Given the description of an element on the screen output the (x, y) to click on. 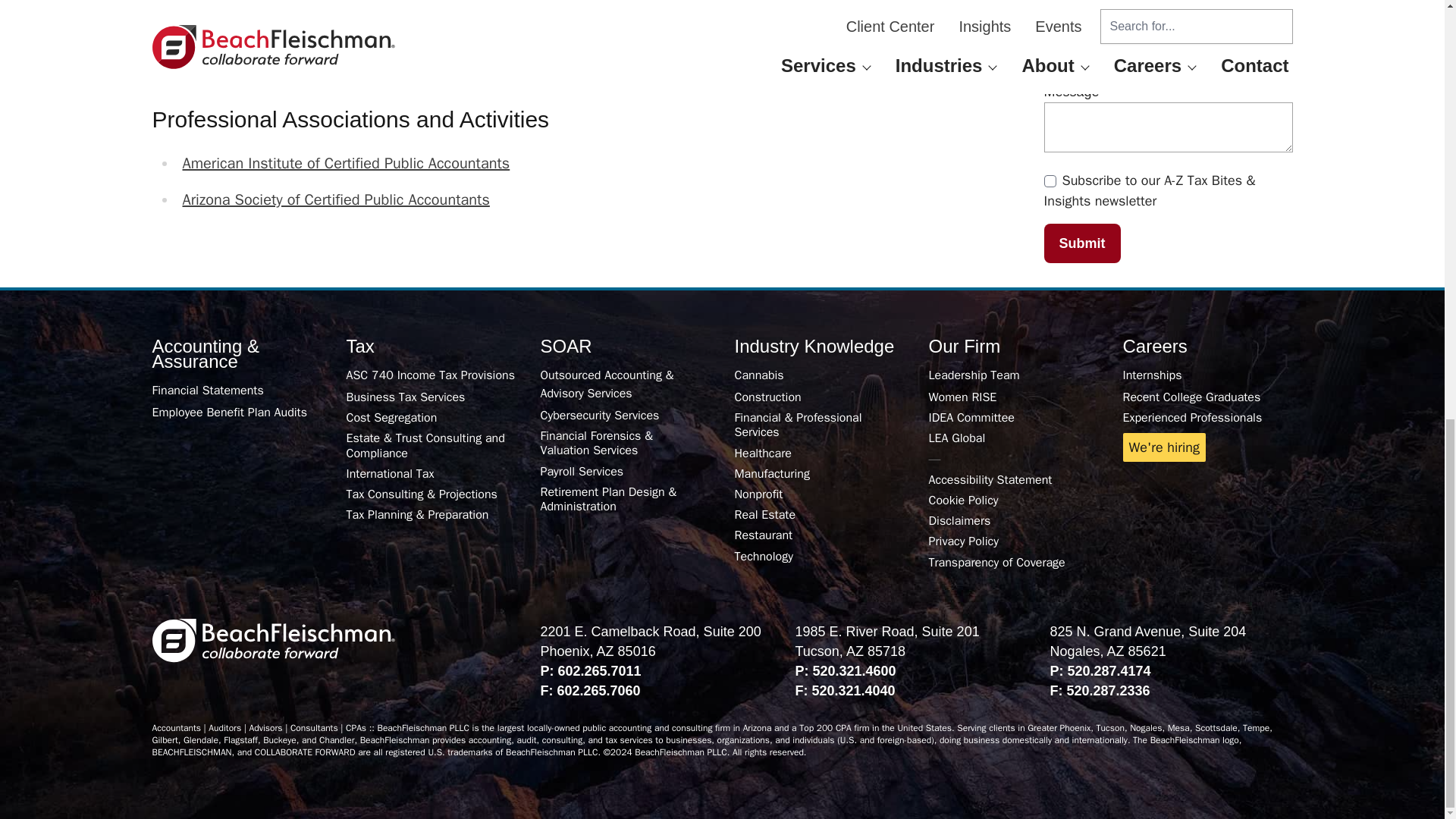
true (1049, 181)
Submit (1081, 242)
